Given the description of an element on the screen output the (x, y) to click on. 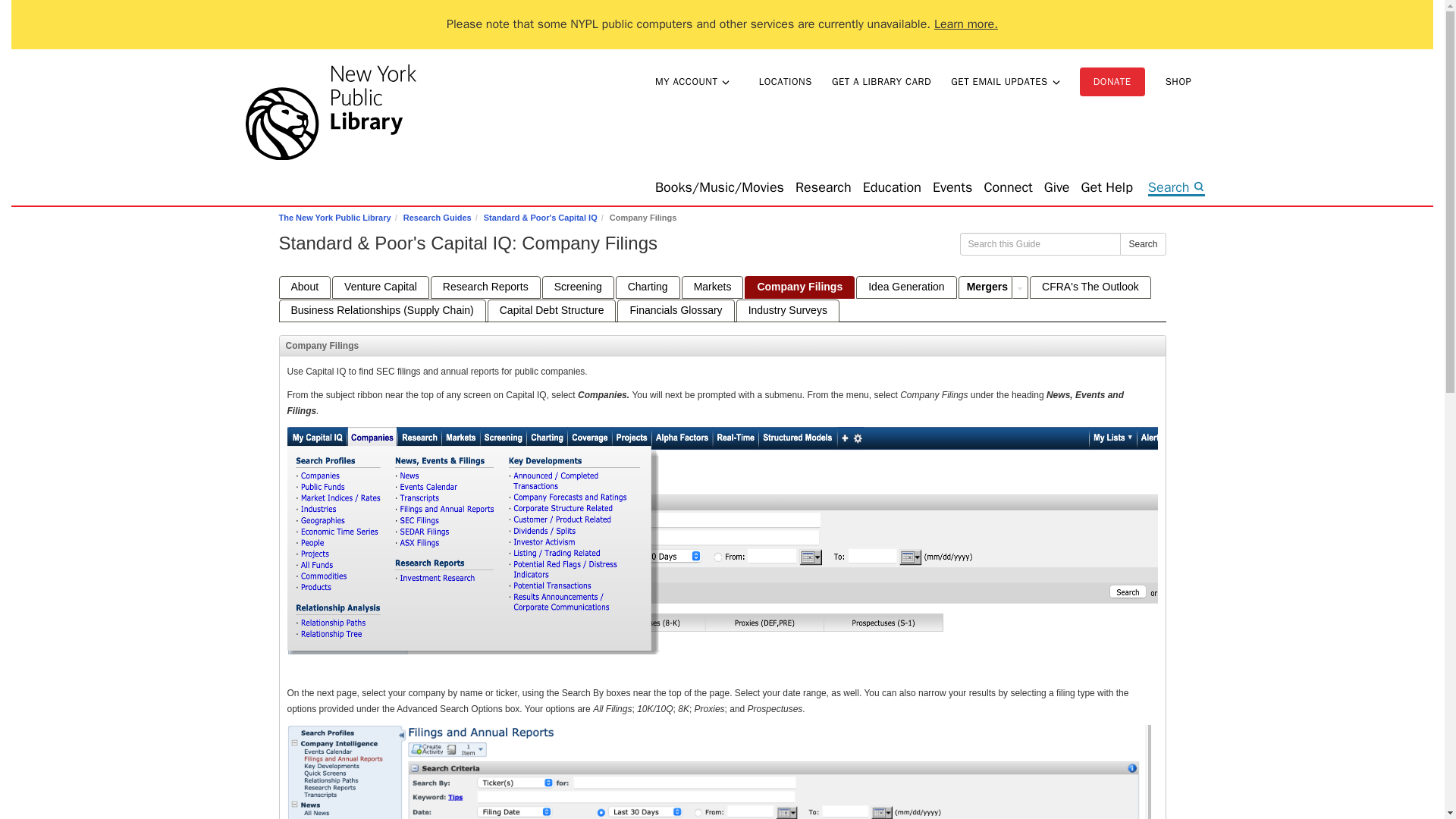
The New York Public Library (344, 114)
Idea Generation (906, 287)
Connect (1008, 187)
Company Filings (799, 287)
MY ACCOUNTNYPL WEDGE DOWN ICON (692, 81)
About (305, 287)
Screening (577, 287)
LOCATIONS (785, 81)
Search (1176, 188)
DONATE (1112, 81)
Education (892, 187)
GET A LIBRARY CARD (881, 81)
Markets (712, 287)
Events (952, 187)
Research Reports (485, 287)
